Given the description of an element on the screen output the (x, y) to click on. 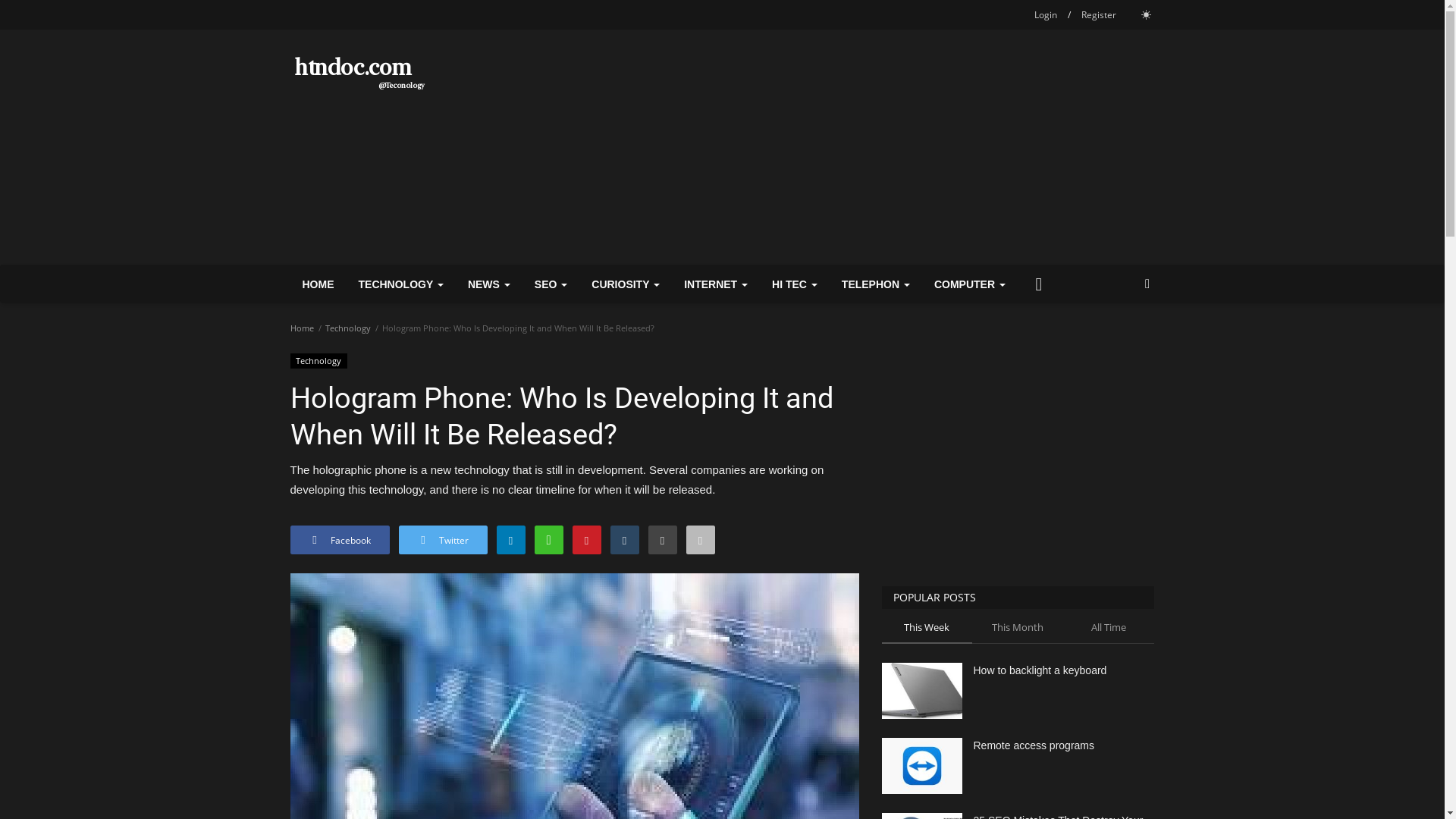
SEO (550, 284)
Advertisement (878, 146)
NEWS (488, 284)
Login (1045, 15)
Advertisement (1017, 457)
TECHNOLOGY (400, 284)
Register (1099, 15)
HOME (317, 284)
